Given the description of an element on the screen output the (x, y) to click on. 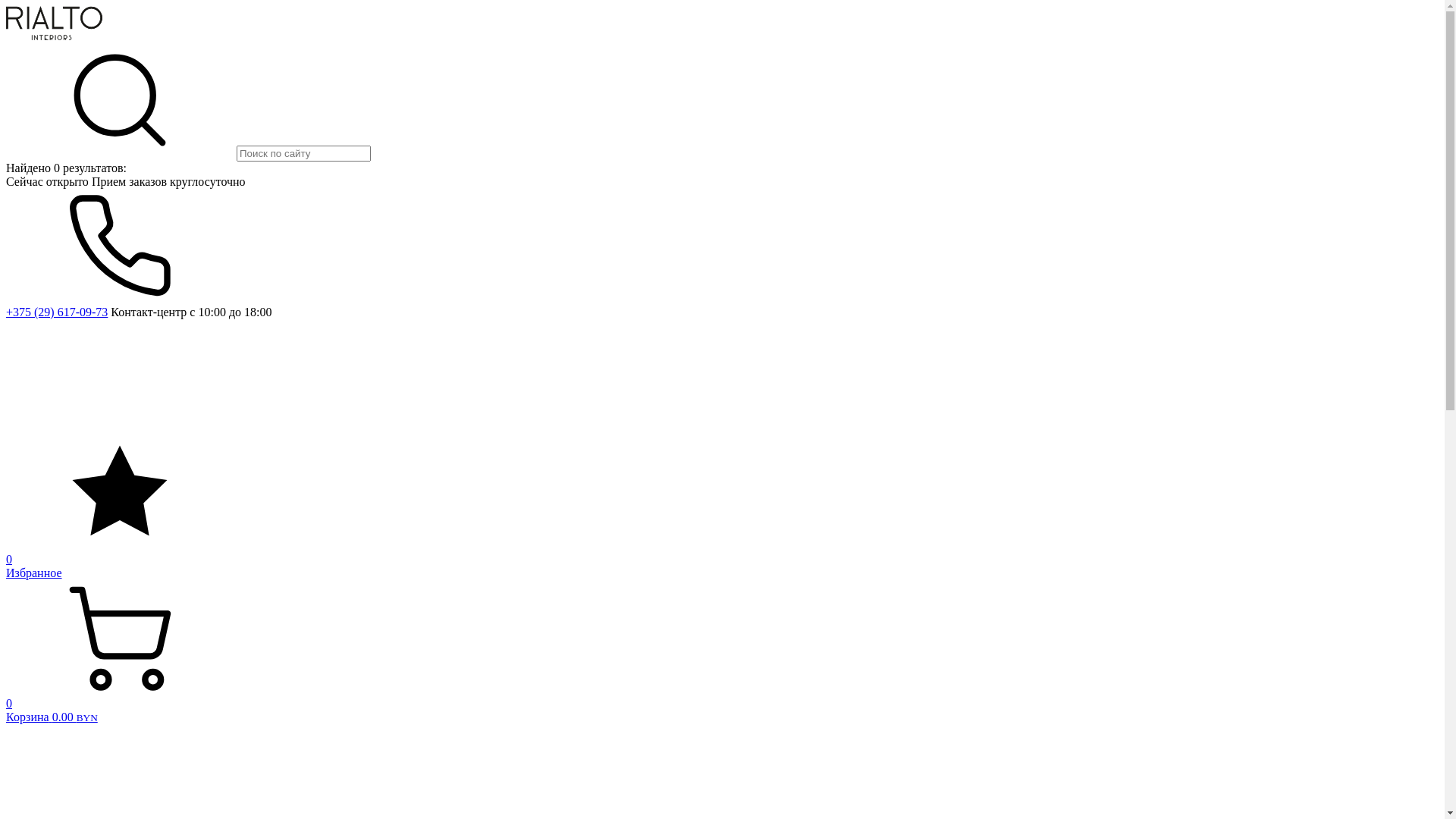
+375 (29) 617-09-73 Element type: text (56, 311)
